Given the description of an element on the screen output the (x, y) to click on. 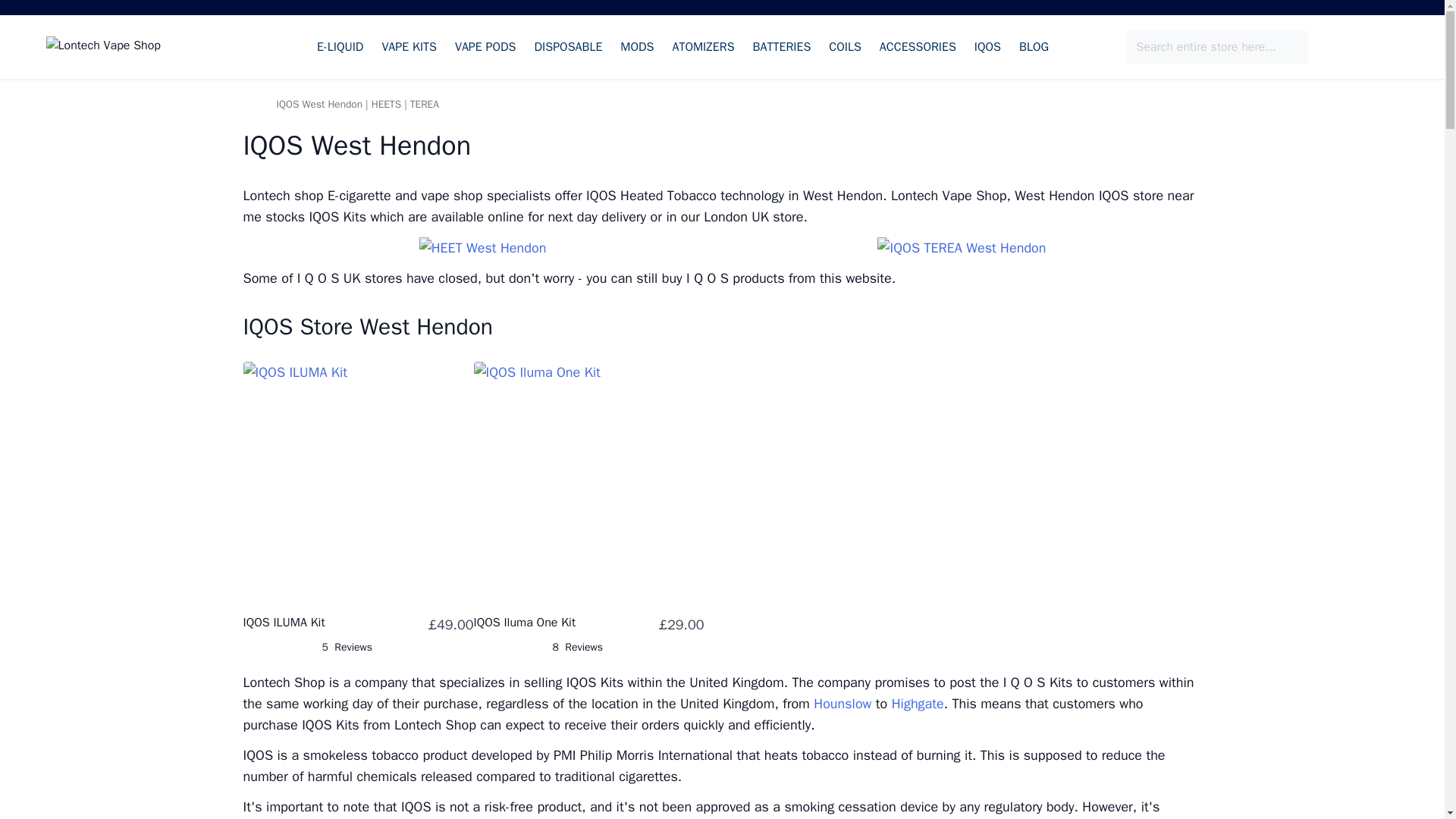
Wishlist (1358, 46)
IQOS (987, 46)
DISPOSABLE (568, 46)
HEET West Hendon (483, 247)
Add to Compare (457, 402)
Lontech Vape Shop (142, 46)
IQOS ILUMA Kit (283, 622)
Add to Compare (688, 402)
8  Reviews (576, 647)
Home (248, 104)
ATOMIZERS (702, 46)
Wishlist (1358, 46)
ACCESSORIES (917, 46)
Add to Wish List (688, 376)
Highgate (917, 703)
